Given the description of an element on the screen output the (x, y) to click on. 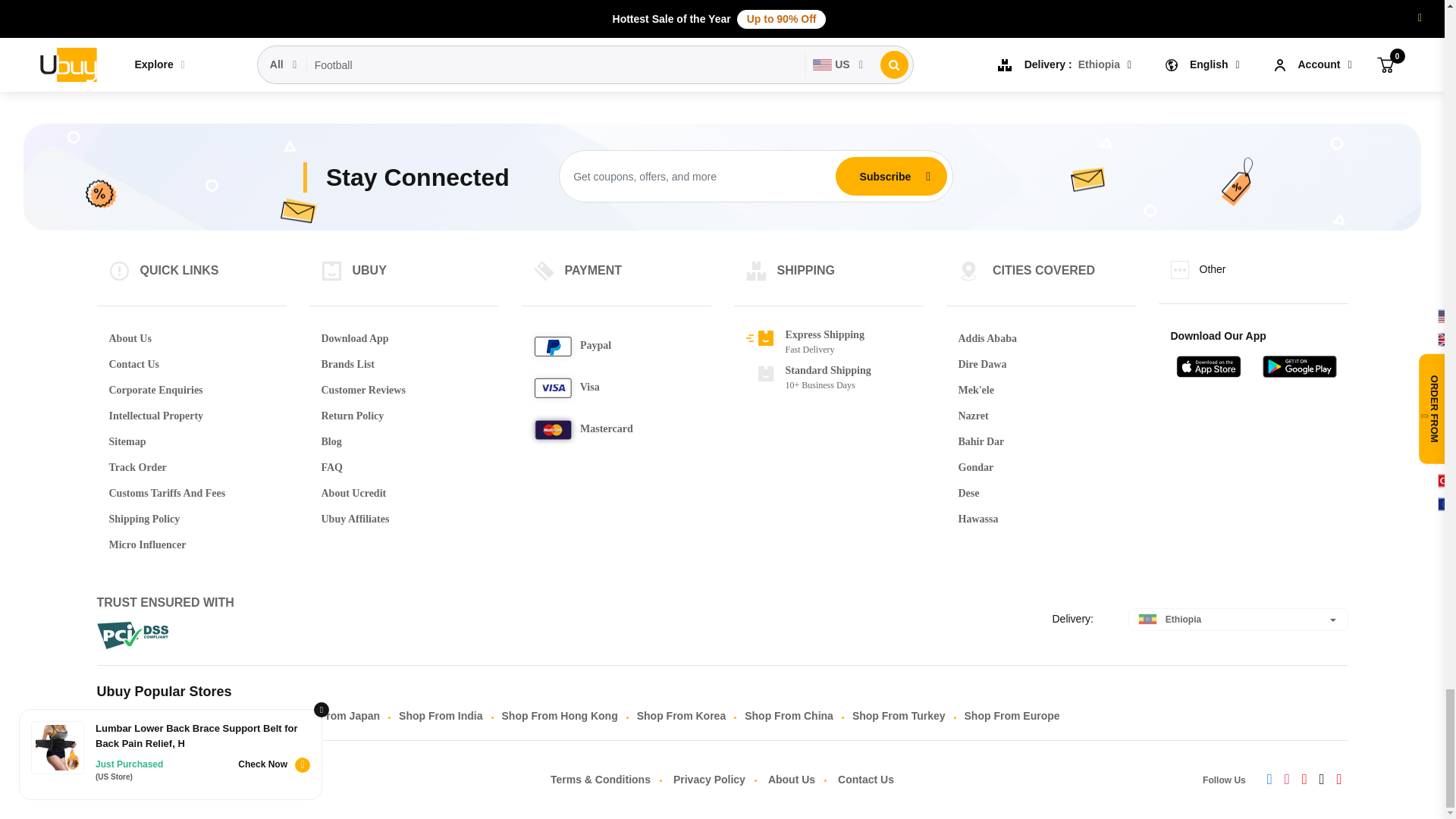
Subscribe (885, 176)
